Given the description of an element on the screen output the (x, y) to click on. 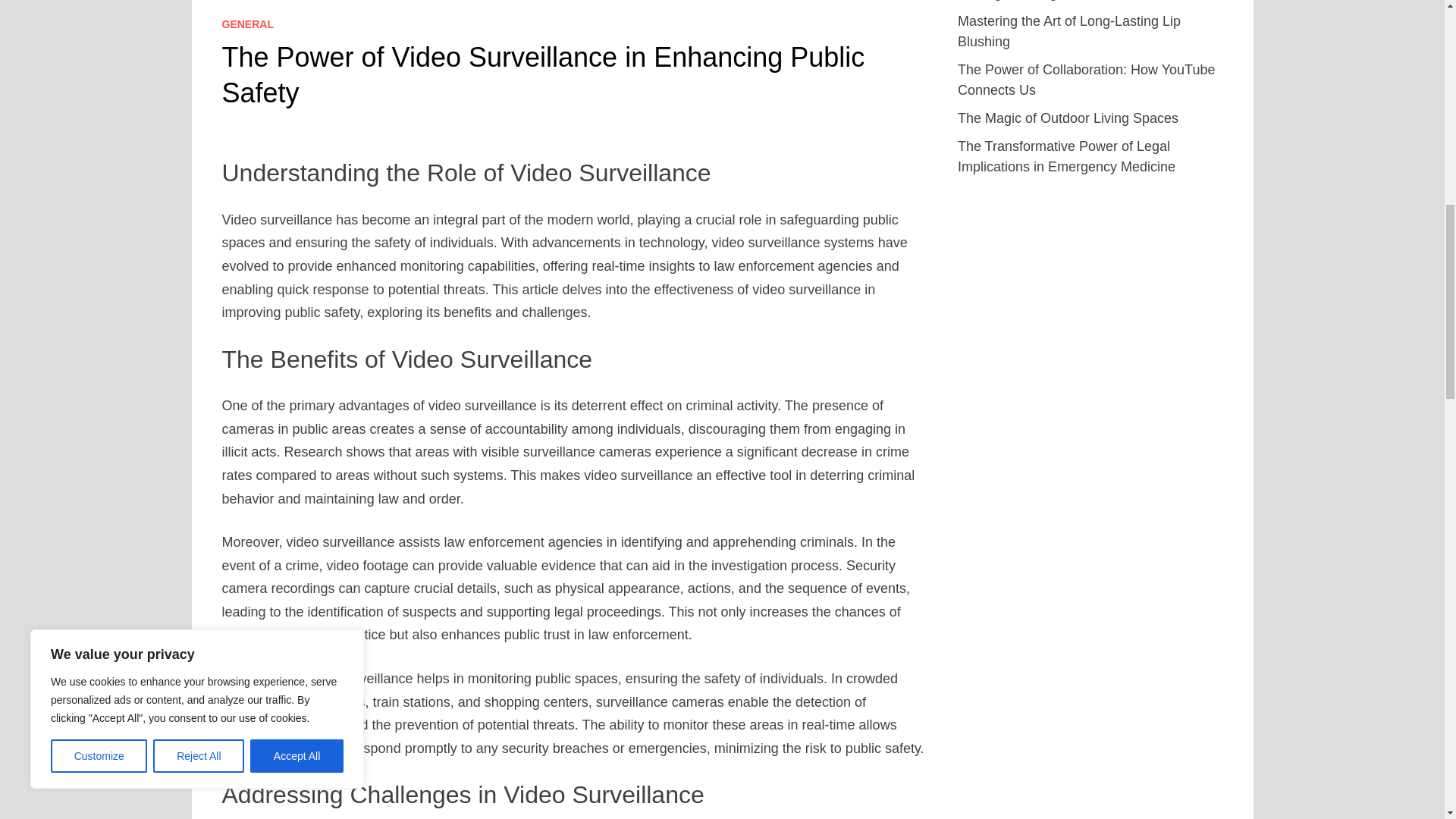
GENERAL (247, 24)
